Given the description of an element on the screen output the (x, y) to click on. 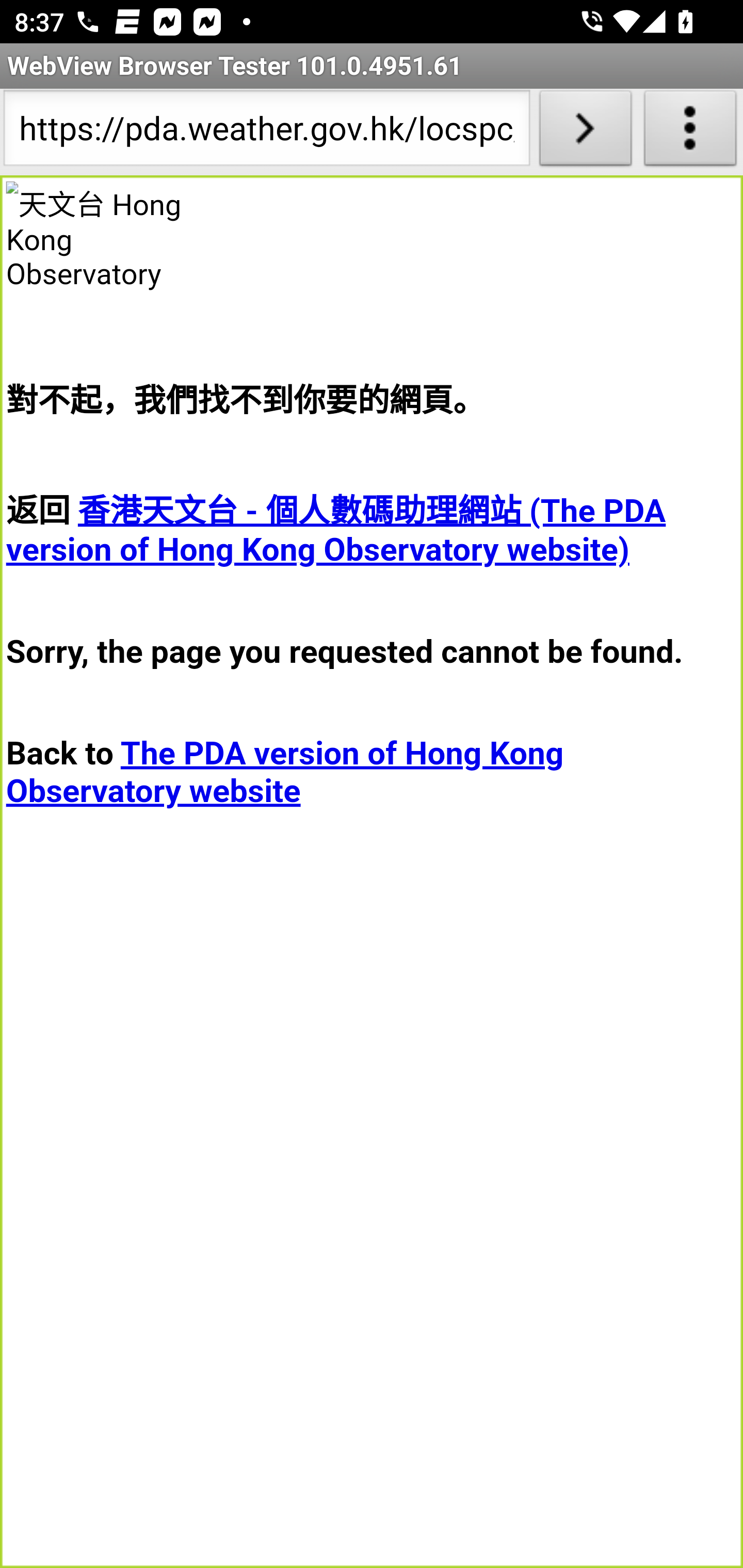
Load URL (585, 132)
About WebView (690, 132)
The PDA version of Hong Kong Observatory website (284, 771)
